Given the description of an element on the screen output the (x, y) to click on. 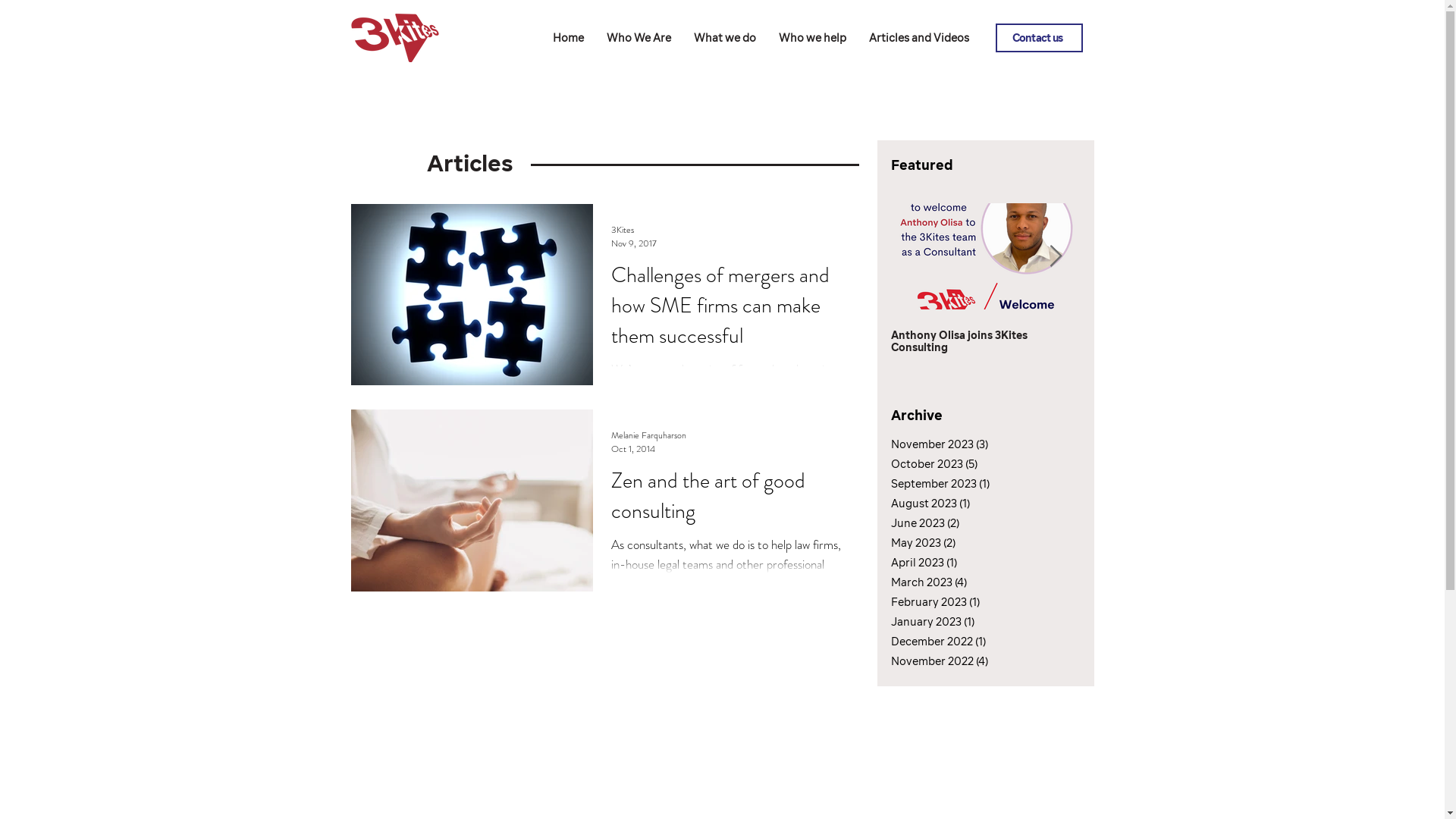
November 2023 (3) Element type: text (969, 444)
Articles and Videos Element type: text (917, 37)
April 2023 (1) Element type: text (969, 563)
February 2023 (1) Element type: text (969, 602)
September 2023 (1) Element type: text (969, 484)
August 2023 (1) Element type: text (969, 503)
June 2023 (2) Element type: text (969, 523)
October 2023 (5) Element type: text (969, 464)
Anthony Olisa joins 3Kites Consulting Element type: text (984, 341)
November 2022 (4) Element type: text (969, 661)
Contact us Element type: text (1038, 37)
Zen and the art of good consulting Element type: text (725, 499)
Who We Are Element type: text (637, 37)
March 2023 (4) Element type: text (969, 582)
January 2023 (1) Element type: text (969, 622)
May 2023 (2) Element type: text (969, 543)
Home Element type: text (568, 37)
December 2022 (1) Element type: text (969, 641)
